Given the description of an element on the screen output the (x, y) to click on. 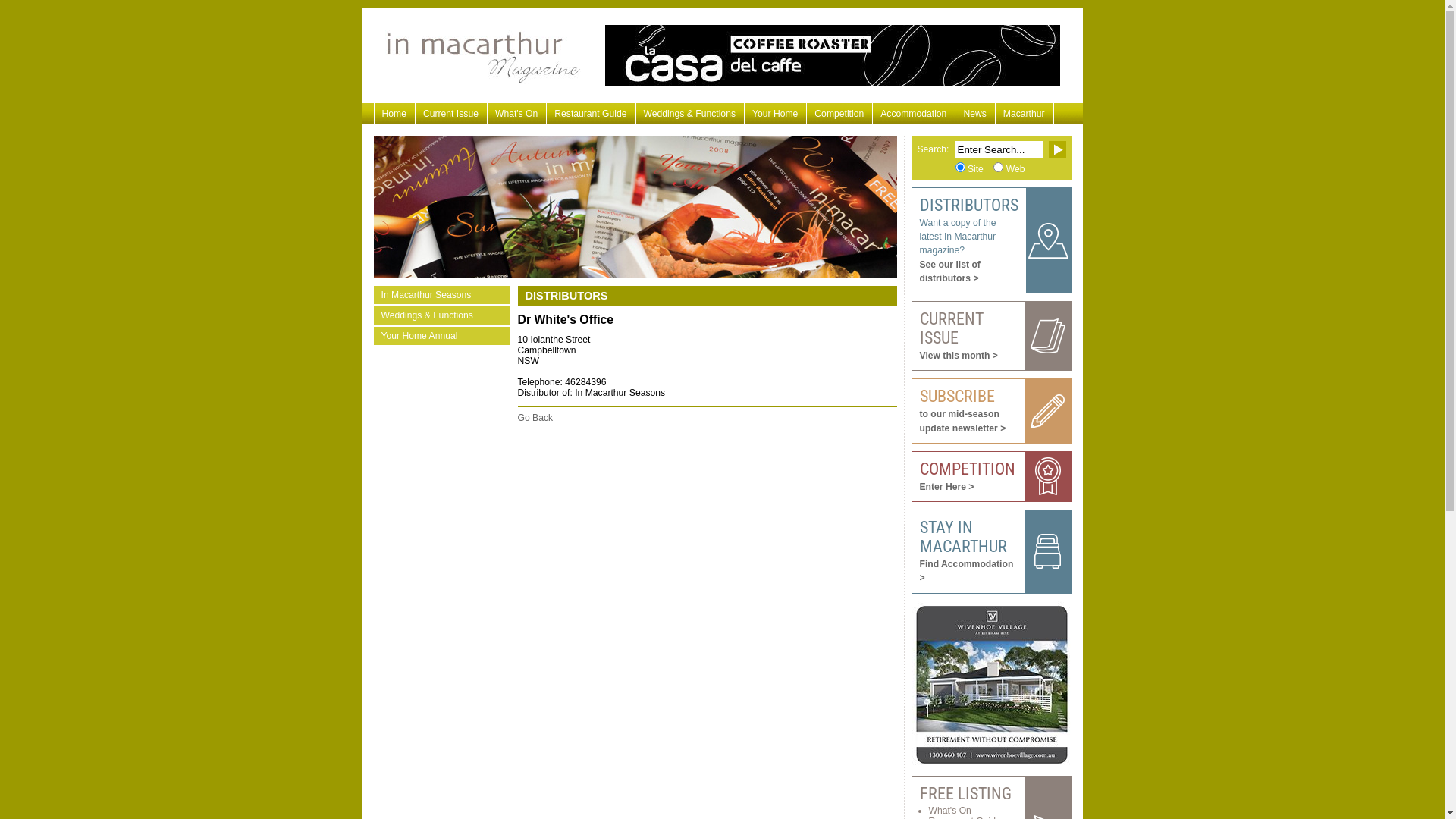
Current Issue Element type: text (451, 113)
See our list of distributors > Element type: text (949, 271)
What's On Element type: text (516, 113)
Submit Element type: text (1056, 149)
Restaurant Guide Element type: text (590, 113)
News Element type: text (974, 113)
Find Accommodation > Element type: text (966, 570)
In Macarthur Seasons Element type: text (441, 294)
Your Home Element type: text (775, 113)
Go Back Element type: text (534, 417)
la casa banner.jpg Element type: hover (832, 55)
Weddings & Functions Element type: text (690, 113)
wiv15 right update.jpg Element type: hover (990, 684)
Macarthur Element type: text (1024, 113)
Home Element type: text (394, 113)
View this month > Element type: text (958, 355)
Competition Element type: text (839, 113)
Enter Here > Element type: text (946, 486)
Accommodation Element type: text (913, 113)
to our mid-season update newsletter > Element type: text (962, 420)
Weddings & Functions Element type: text (441, 315)
Your Home Annual Element type: text (441, 335)
